Given the description of an element on the screen output the (x, y) to click on. 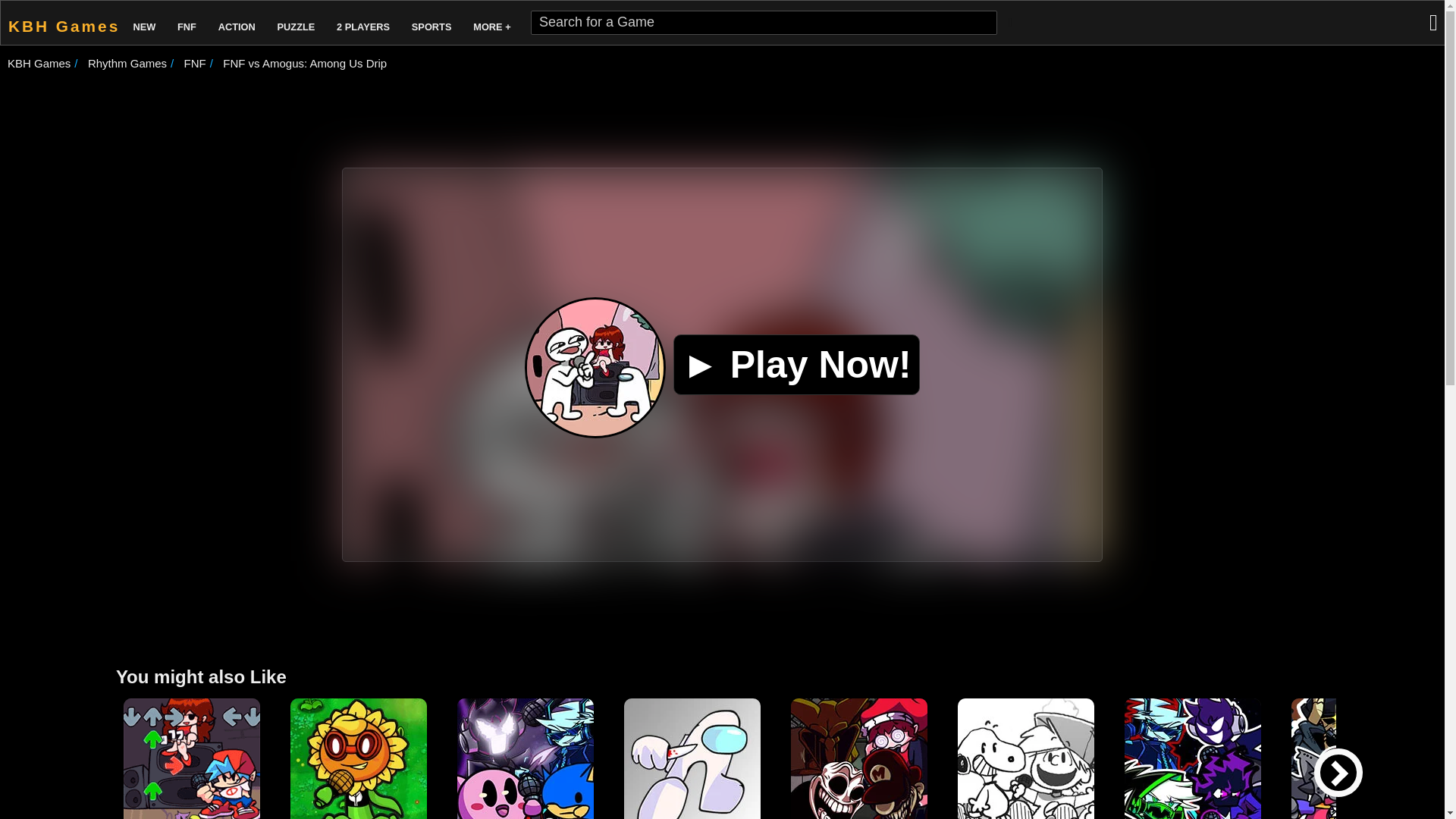
FNF VS Plant's Night Funkin Replanted (357, 758)
FNF (195, 62)
Advertisement (722, 115)
ACTION (237, 22)
FNF Left Unlocked, but Everyone Sings It (858, 758)
Rhythm Games (127, 62)
FNF Vs Void Polarity But Everyone Sings It (525, 758)
FNF Genocide, but Everyone Sings it (1359, 758)
PUZZLE (295, 22)
KBH Games (38, 62)
Friday Night Funkin' (191, 758)
KBH Games (61, 22)
2 PLAYERS (363, 22)
SPORTS (432, 22)
FNF Vs Amogus Imposter (692, 758)
